Given the description of an element on the screen output the (x, y) to click on. 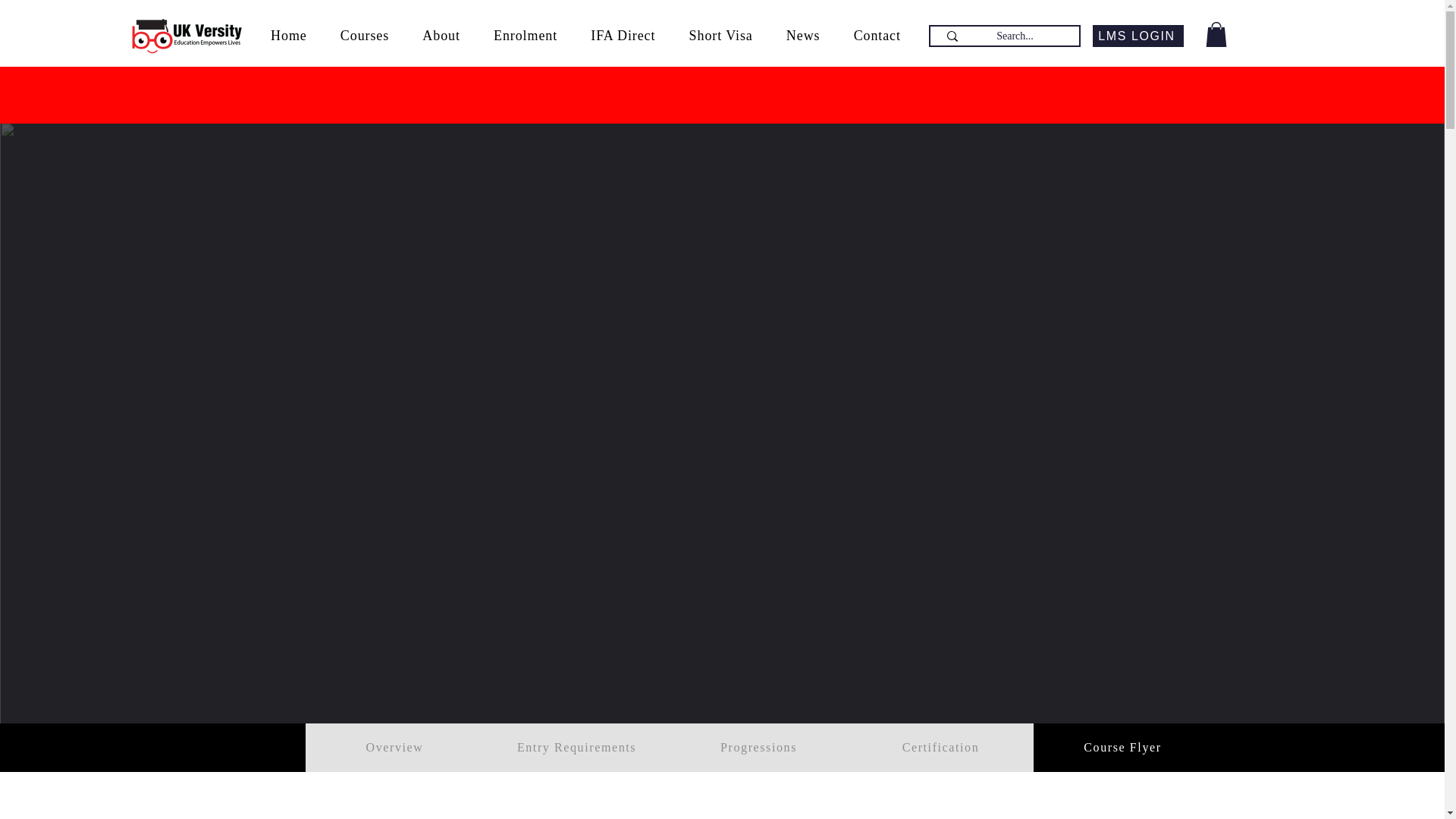
IFA Direct (622, 35)
Contact (877, 35)
Progressions (759, 747)
Entry Requirements (577, 747)
Home (288, 35)
LMS LOGIN (1138, 35)
Overview (395, 747)
News (803, 35)
Enrolment (525, 35)
About (441, 35)
Short Visa (721, 35)
Courses (364, 35)
